Given the description of an element on the screen output the (x, y) to click on. 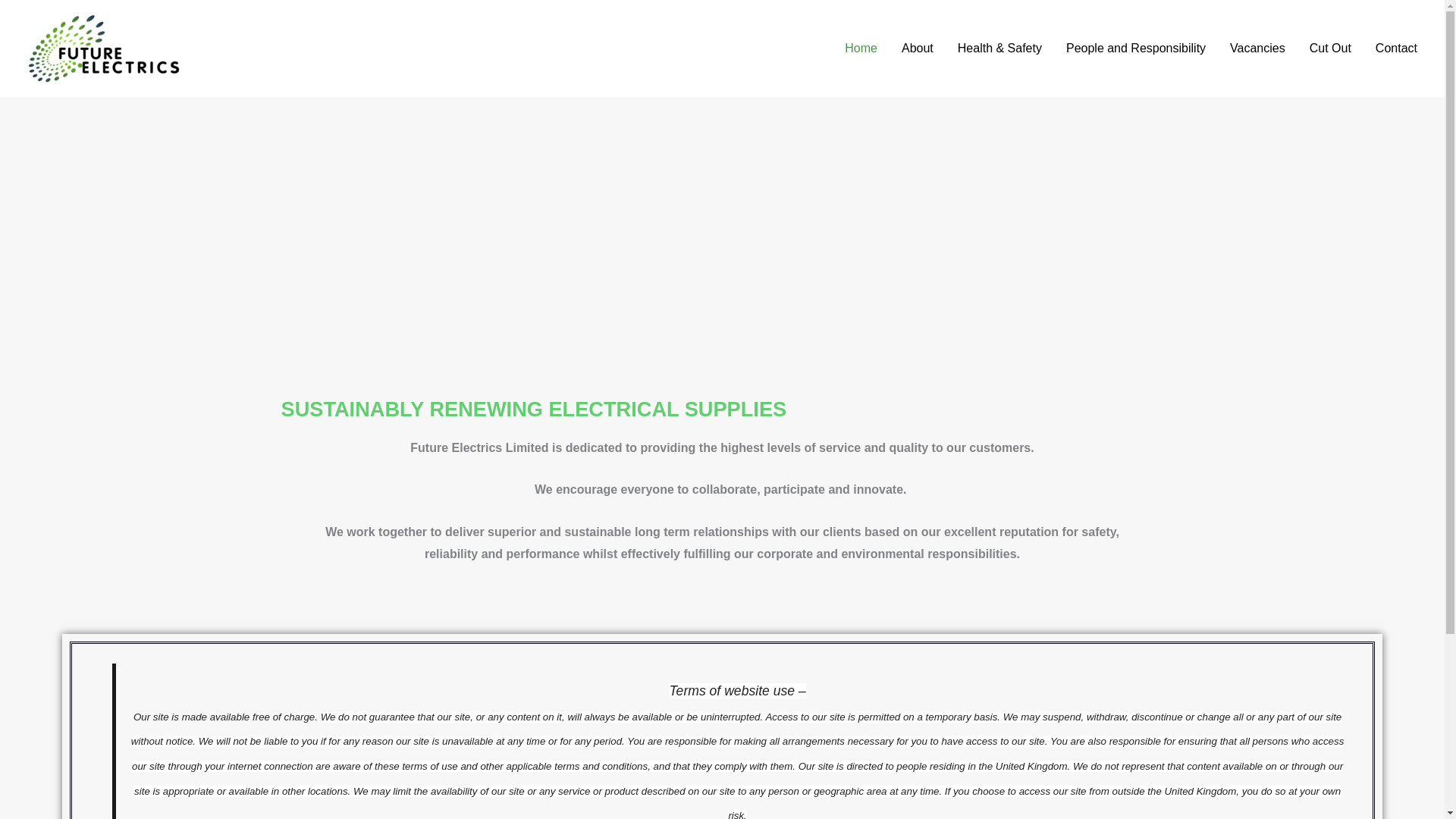
Contact (1395, 48)
About (916, 48)
People and Responsibility (1135, 48)
Home (860, 48)
Cut Out (1329, 48)
Vacancies (1257, 48)
